Given the description of an element on the screen output the (x, y) to click on. 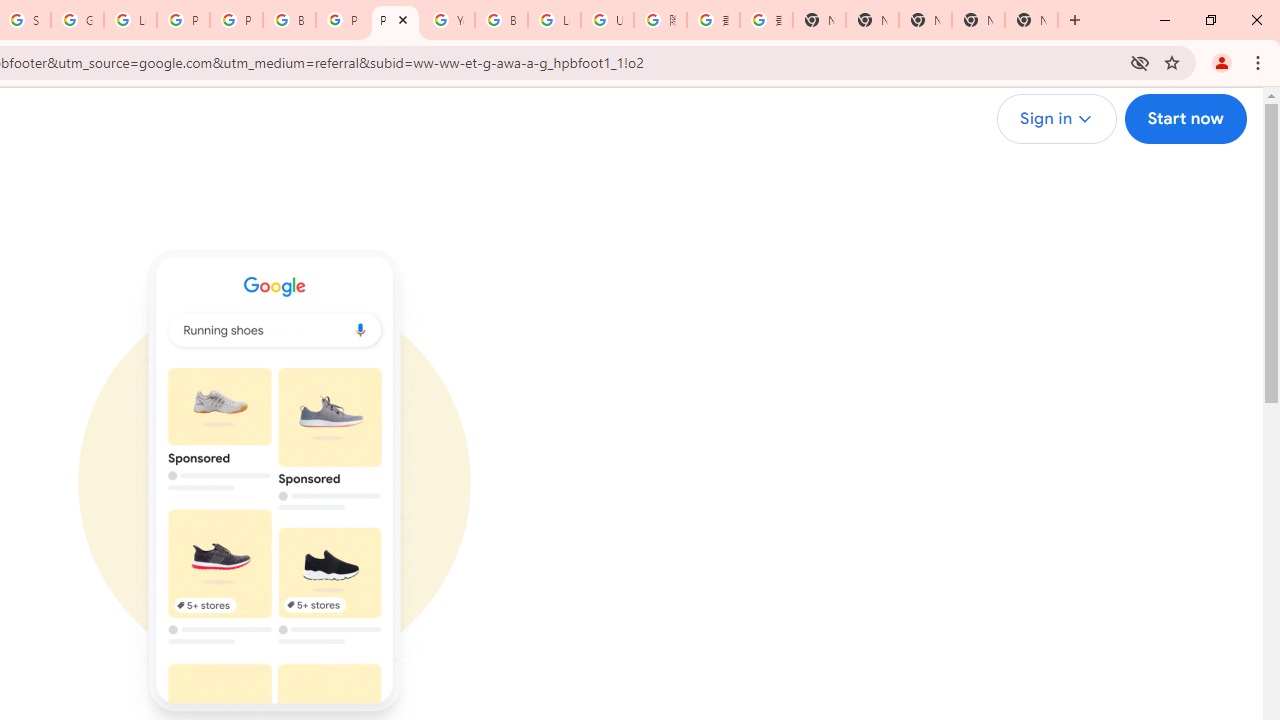
YouTube (448, 20)
New Tab (1031, 20)
